Given the description of an element on the screen output the (x, y) to click on. 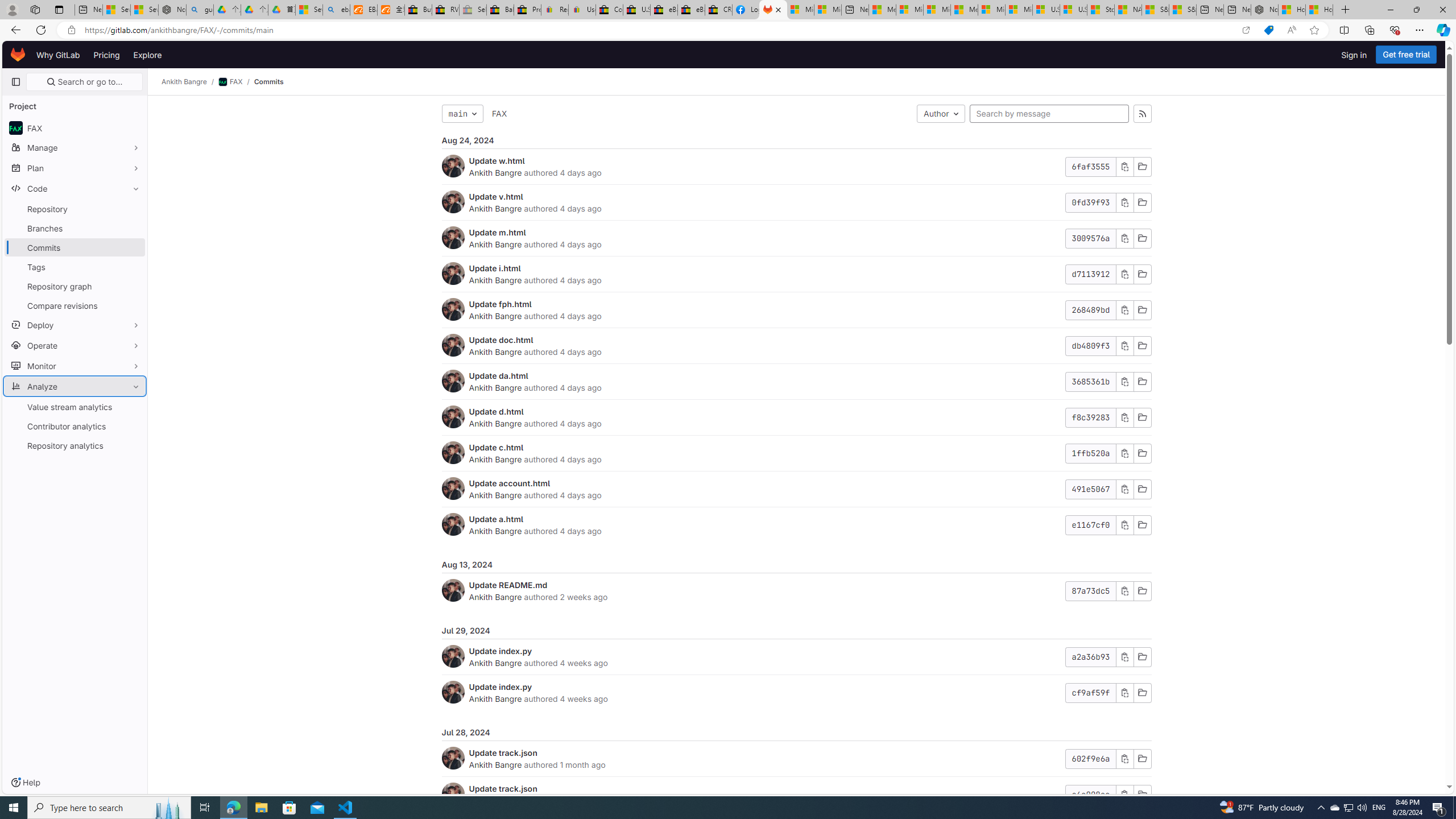
Aug 24, 2024 (796, 140)
Class: s16 (1142, 794)
Update account.htmlAnkith Bangre authored 4 days ago491e5067 (796, 488)
Search by message (1048, 113)
Update da.htmlAnkith Bangre authored 4 days ago3685361b (796, 381)
Deploy (74, 324)
FAX (499, 112)
